Given the description of an element on the screen output the (x, y) to click on. 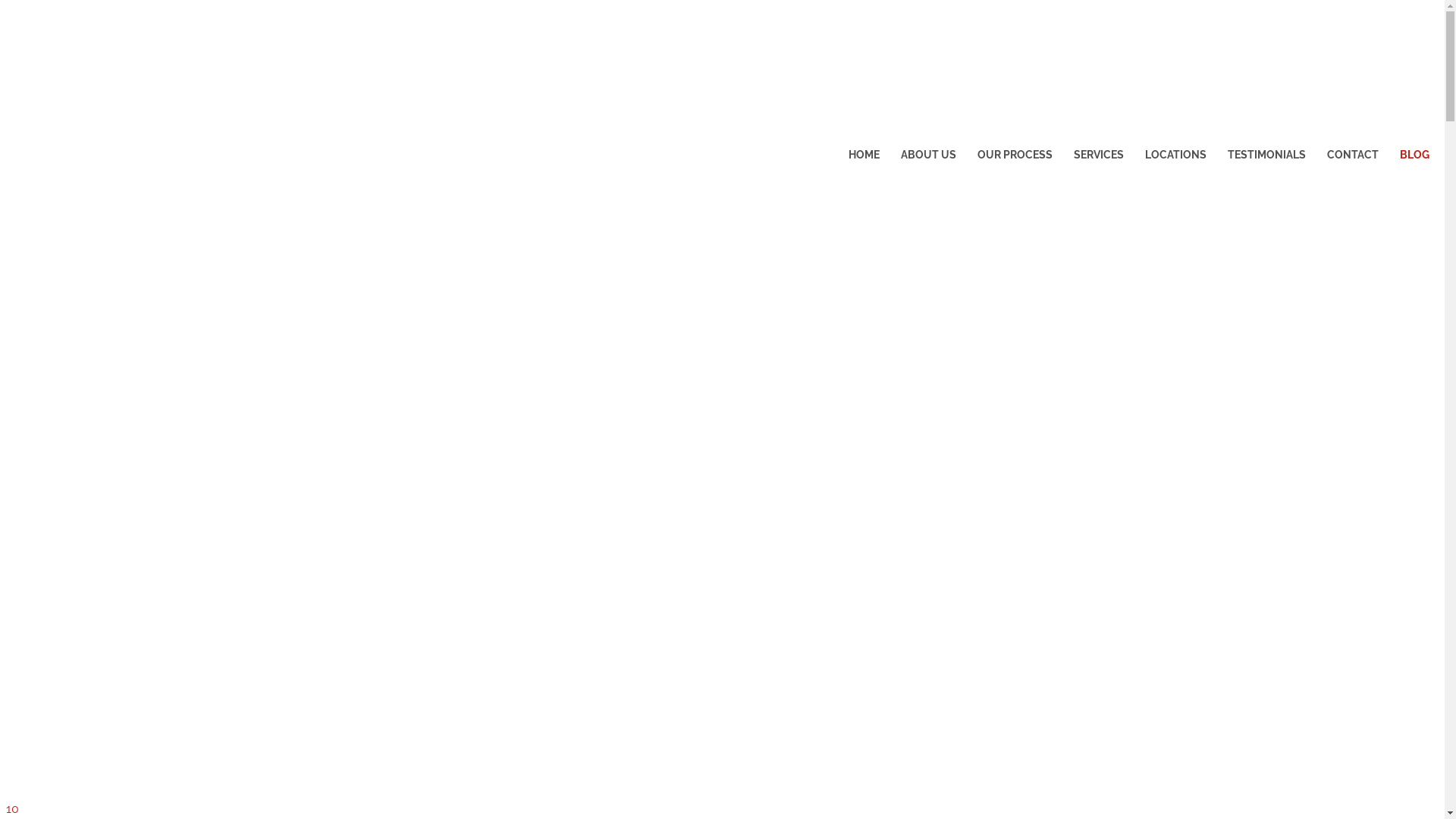
BLOG Element type: text (1414, 154)
OUR PROCESS Element type: text (1014, 154)
TESTIMONIALS Element type: text (1266, 154)
ABOUT US Element type: text (928, 154)
LOCATIONS Element type: text (1175, 154)
HOME Element type: text (863, 154)
SERVICES Element type: text (1098, 154)
Economic Pest Control Element type: hover (455, 86)
CONTACT Element type: text (1352, 154)
Call us today on 1300 655 774 Element type: text (290, 24)
HOME Element type: text (28, 399)
Flick.Wangaratta@flick.com.au Element type: text (103, 24)
